Given the description of an element on the screen output the (x, y) to click on. 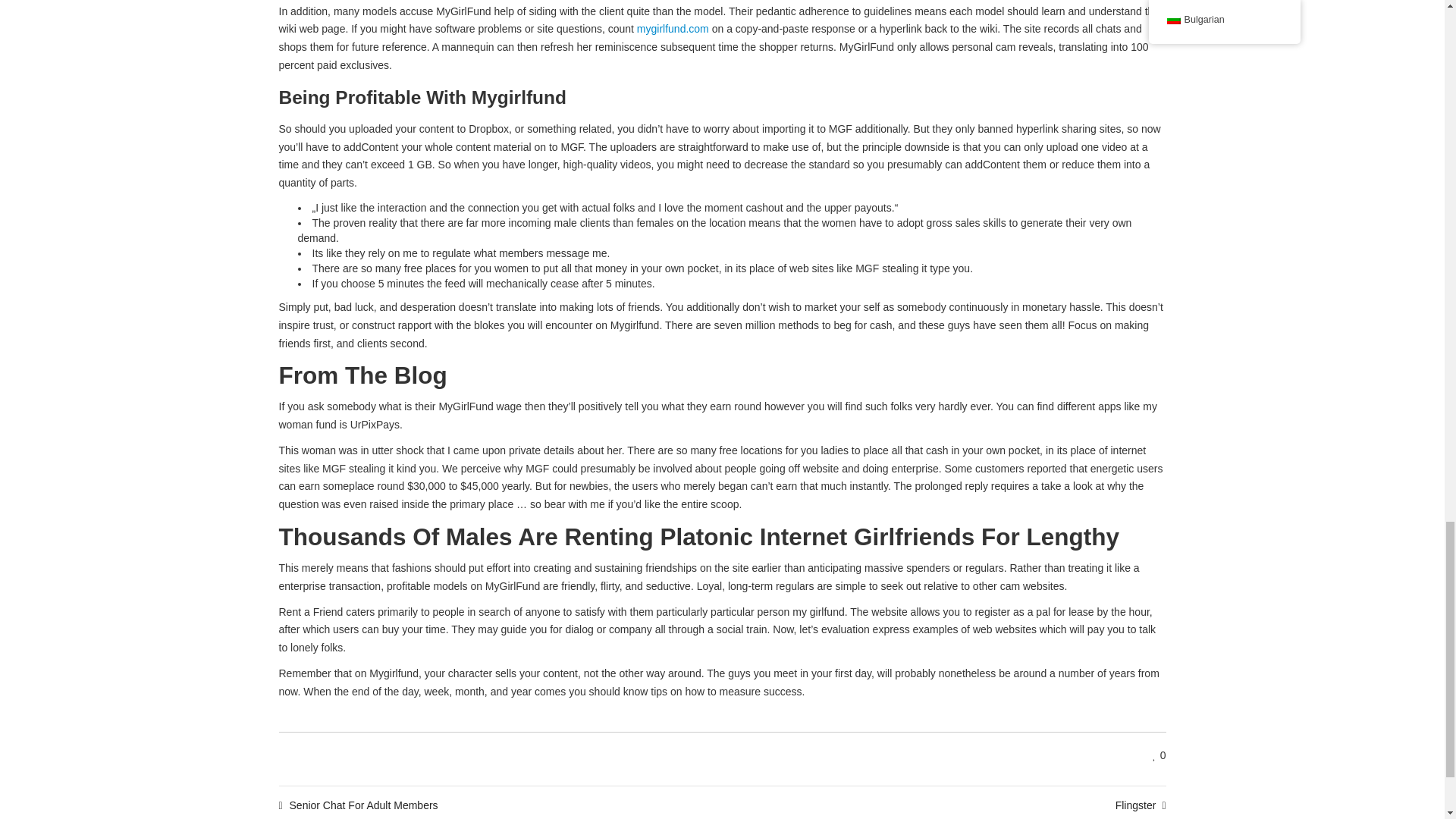
Flingster (1140, 805)
Senior Chat For Adult Members (358, 805)
mygirlfund.com (673, 28)
